Given the description of an element on the screen output the (x, y) to click on. 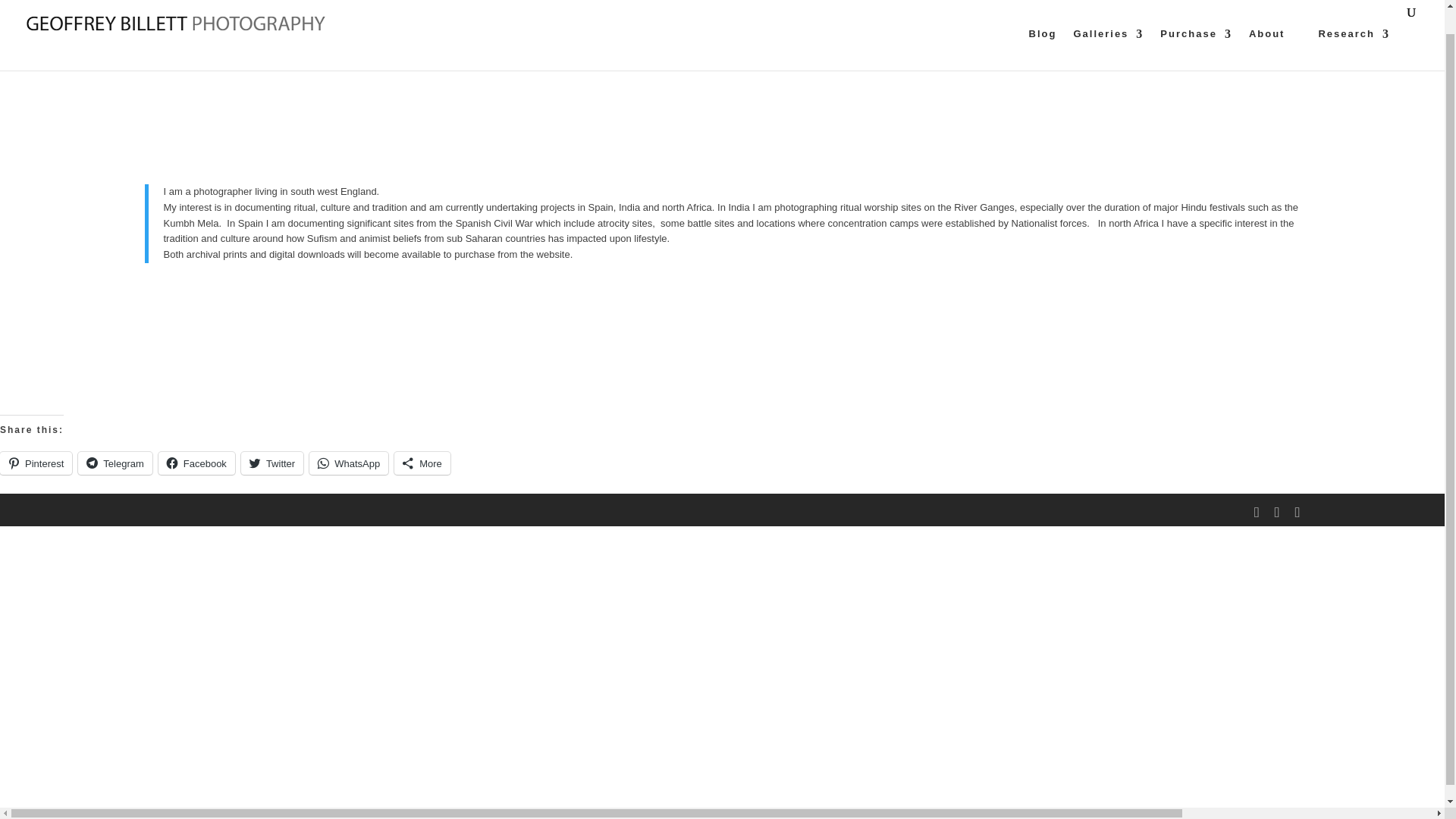
Click to share on Twitter (271, 463)
Click to share on WhatsApp (348, 463)
Research (1353, 49)
Purchase (1195, 49)
Click to share on Facebook (196, 463)
Click to share on Telegram (114, 463)
Galleries (1107, 49)
Click to share on Pinterest (35, 463)
